Given the description of an element on the screen output the (x, y) to click on. 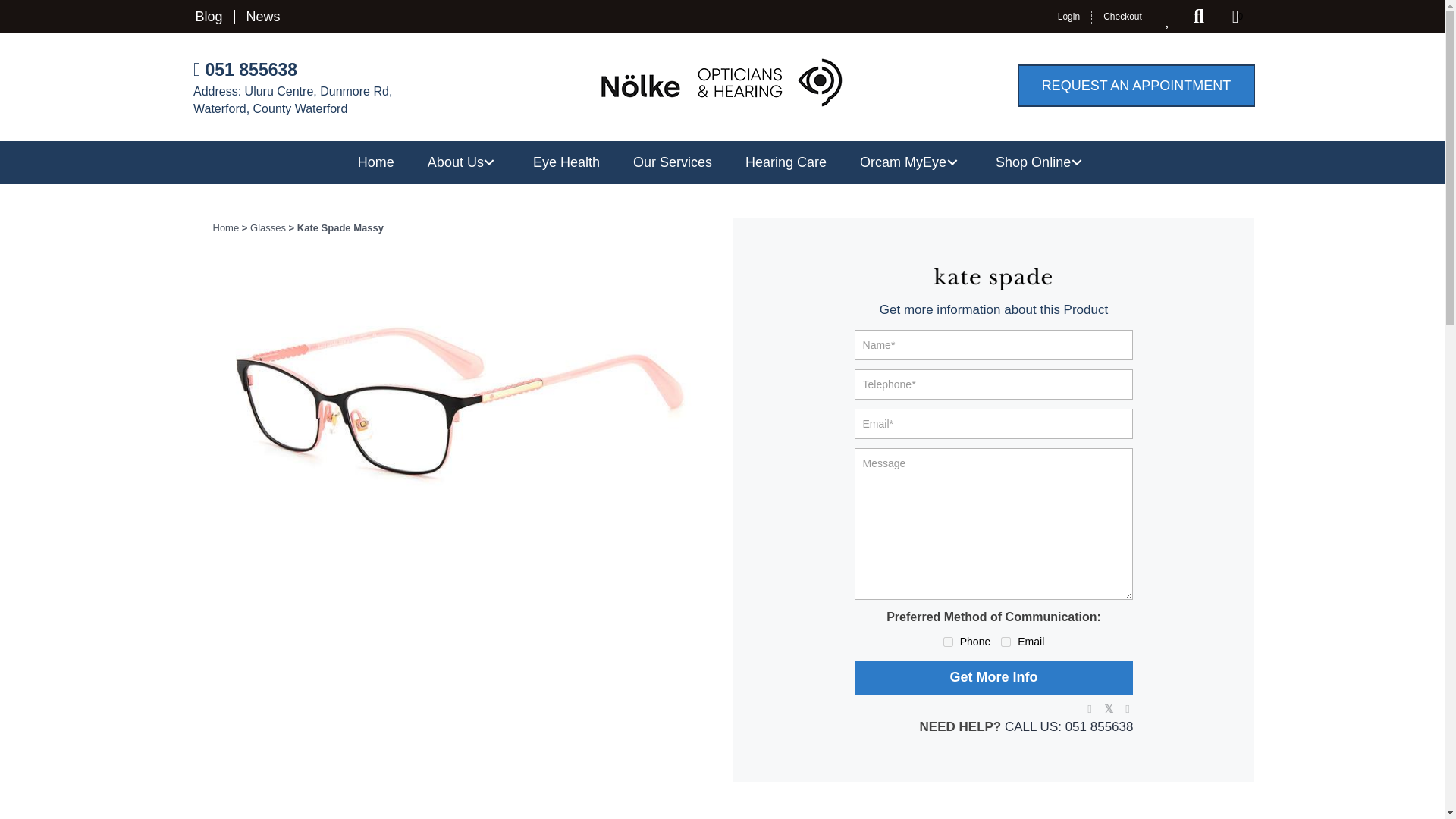
Instagram (1126, 708)
Phone (948, 642)
Kate Spade Massy (461, 406)
Blog (212, 16)
Home (375, 161)
Twitter (1107, 708)
News (263, 16)
Get More Info (994, 677)
Login (1067, 16)
REQUEST AN APPOINTMENT (1136, 85)
